Given the description of an element on the screen output the (x, y) to click on. 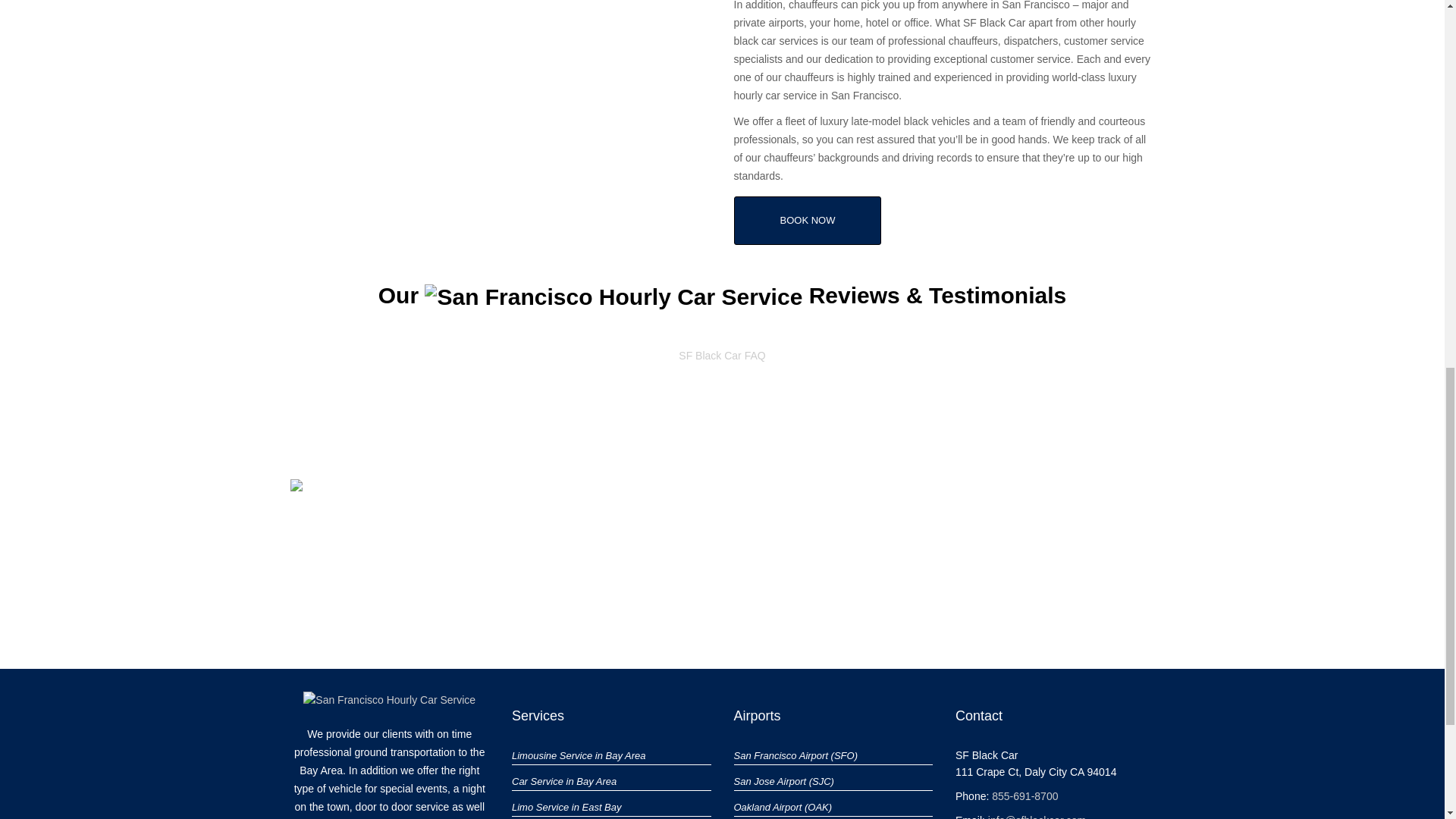
Single Blog Post (796, 755)
Limousine Service in Bay Area (579, 755)
SF Black Car FAQ (721, 355)
Single Blog Post (563, 781)
Single Blog Post (566, 807)
Single Blog Post (579, 755)
SF Black Car FAQ (721, 355)
Single Blog Post (783, 781)
BOOK NOW (807, 220)
Single Blog Post (782, 807)
Car Service in Bay Area (563, 781)
